Given the description of an element on the screen output the (x, y) to click on. 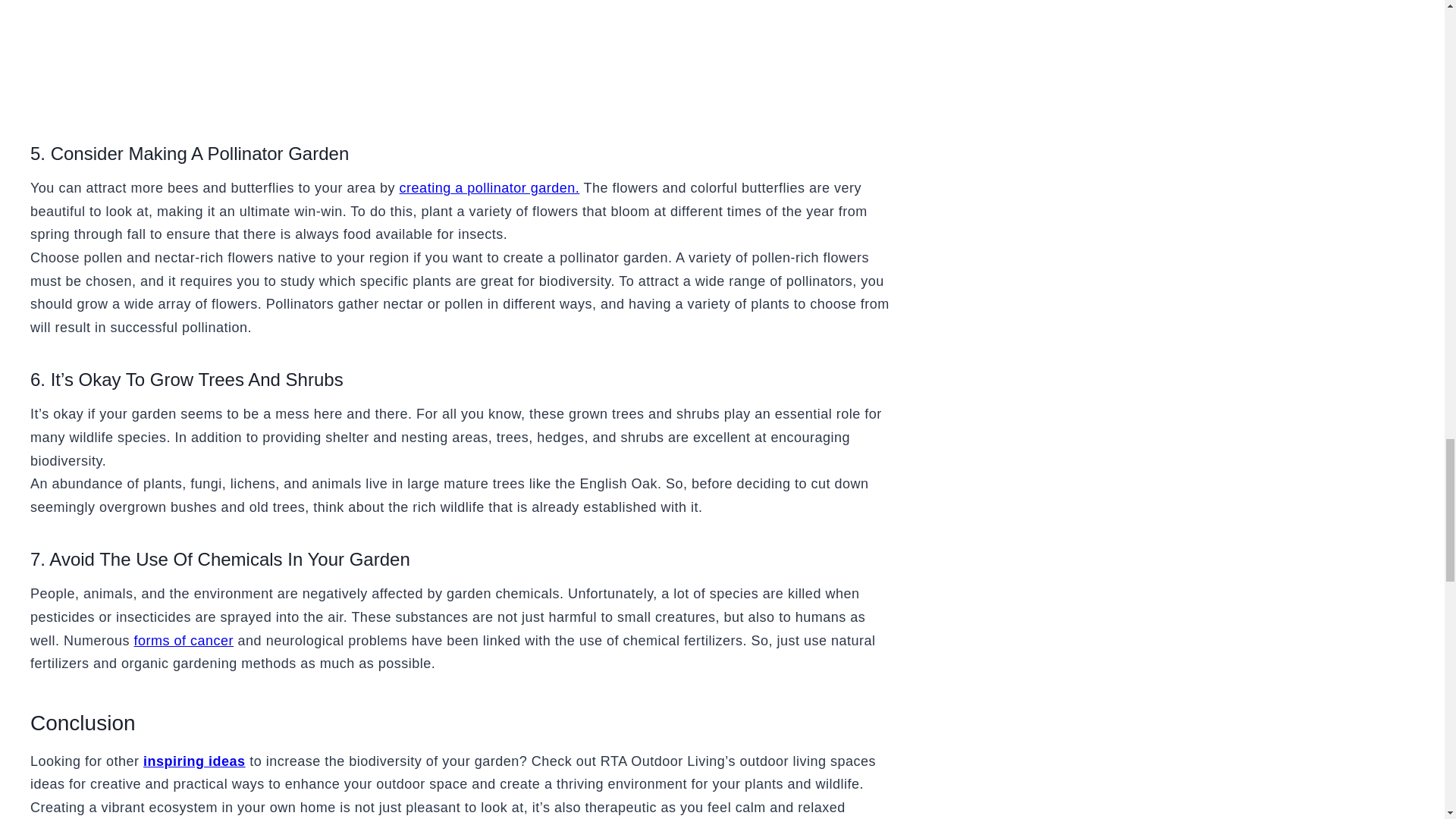
forms of cancer (183, 640)
inspiring ideas (194, 761)
creating a pollinator garden. (488, 187)
